Given the description of an element on the screen output the (x, y) to click on. 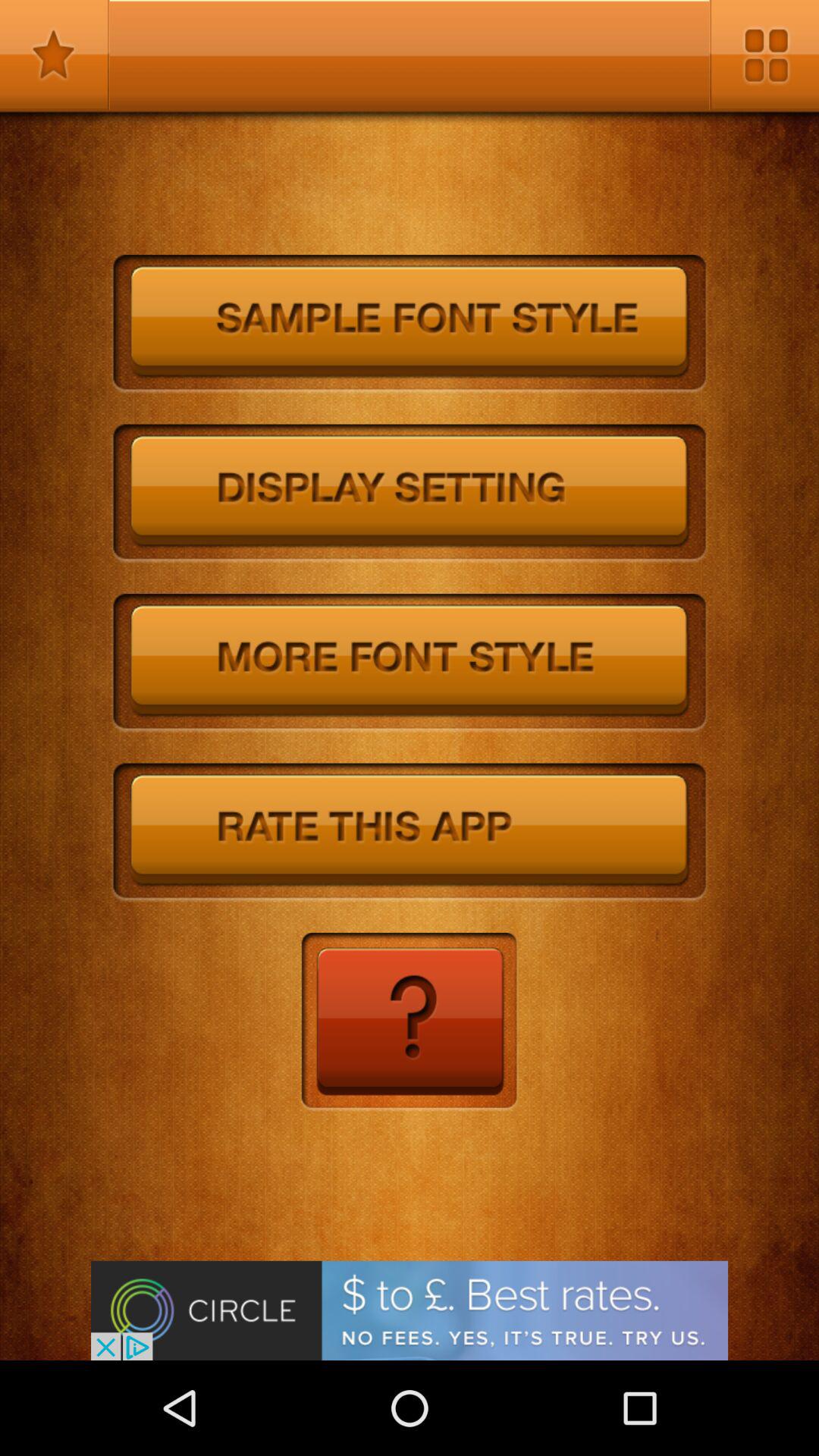
open advertisement (409, 1310)
